Given the description of an element on the screen output the (x, y) to click on. 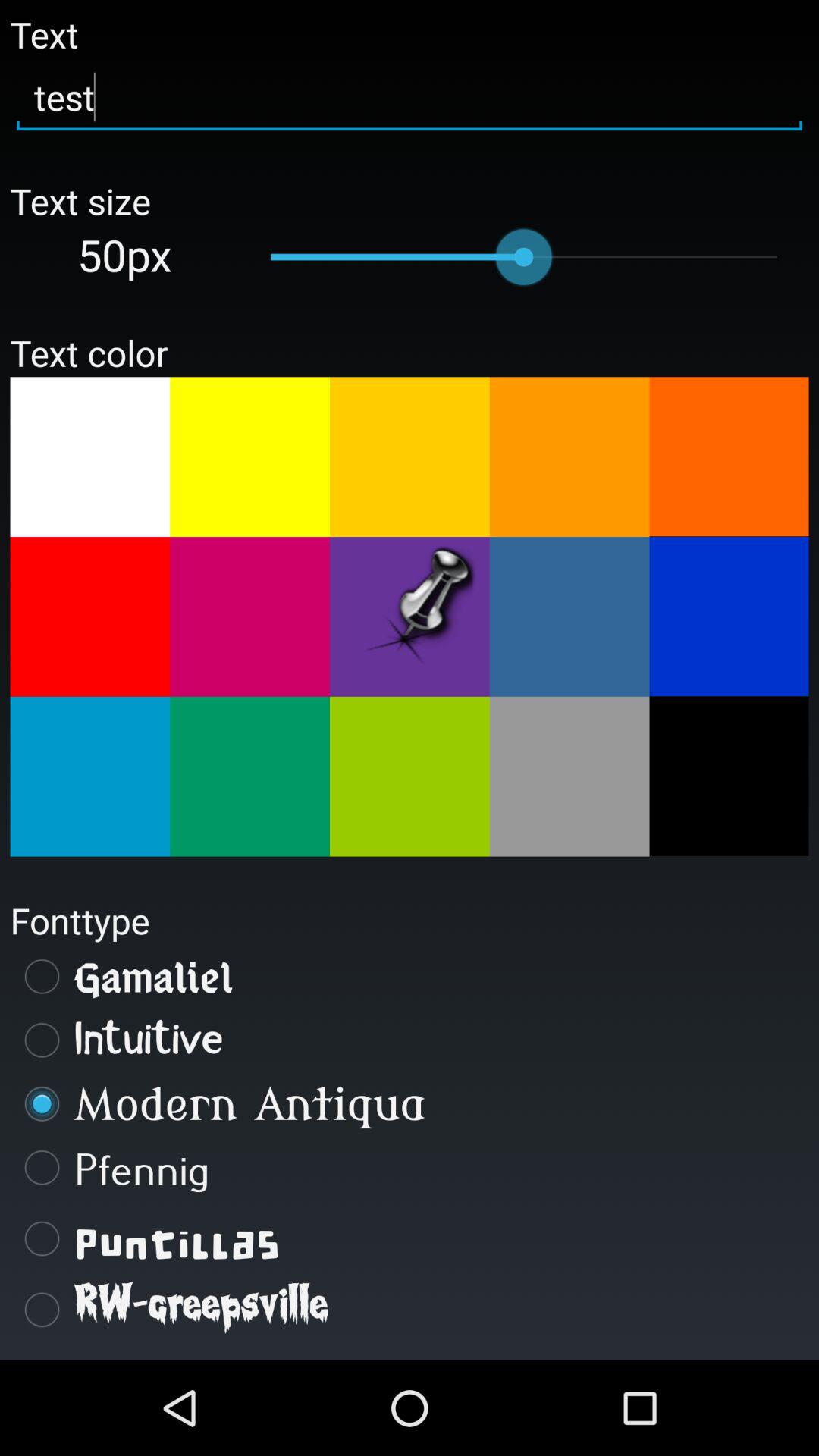
choose text color black (728, 775)
